Given the description of an element on the screen output the (x, y) to click on. 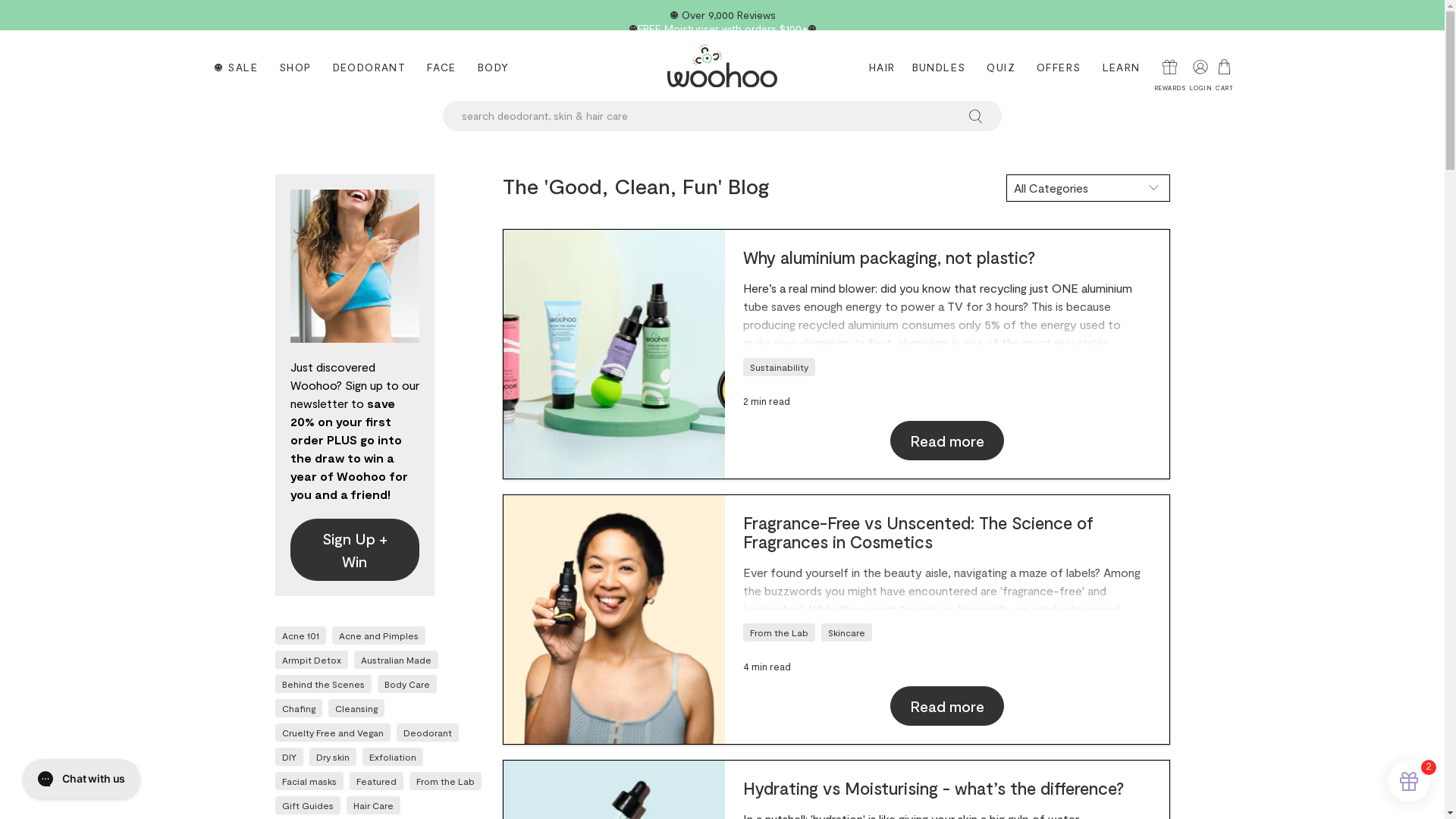
Hair Care Element type: text (373, 805)
Deodorant Element type: text (427, 732)
LEARN Element type: text (1121, 65)
LOGIN Element type: text (1198, 69)
SHOP Element type: text (295, 65)
Sign Up + Win Element type: text (353, 549)
Featured Element type: text (376, 780)
Why aluminium packaging, not plastic? Element type: hover (614, 353)
Chafing Element type: text (298, 708)
FACE Element type: text (441, 65)
FREE Moisturiser with orders $100+ Element type: text (721, 27)
DEODORANT Element type: text (369, 65)
Armpit Detox Element type: text (311, 659)
Acne 101 Element type: text (300, 635)
Skincare Element type: text (846, 632)
Woohoo Body Element type: hover (722, 65)
BUNDLES Element type: text (938, 65)
Sustainability Element type: text (778, 366)
Gorgias live chat messenger Element type: hover (81, 778)
Facial masks Element type: text (309, 780)
Read more Element type: text (947, 705)
BODY Element type: text (493, 65)
From the Lab Element type: text (444, 780)
OFFERS Element type: text (1058, 65)
Acne and Pimples Element type: text (377, 635)
HAIR Element type: text (879, 65)
Body Care Element type: text (406, 683)
Why aluminium packaging, not plastic? Element type: text (889, 256)
Behind the Scenes Element type: text (323, 683)
Exfoliation Element type: text (391, 756)
CART Element type: text (1224, 75)
Read more Element type: text (947, 440)
From the Lab Element type: text (778, 632)
Gift Guides Element type: text (307, 805)
REWARDS Element type: text (1168, 69)
DIY Element type: text (289, 756)
Cruelty Free and Vegan Element type: text (332, 732)
Australian Made Element type: text (395, 659)
Dry skin Element type: text (331, 756)
QUIZ Element type: text (1000, 65)
Cleansing Element type: text (356, 708)
